Given the description of an element on the screen output the (x, y) to click on. 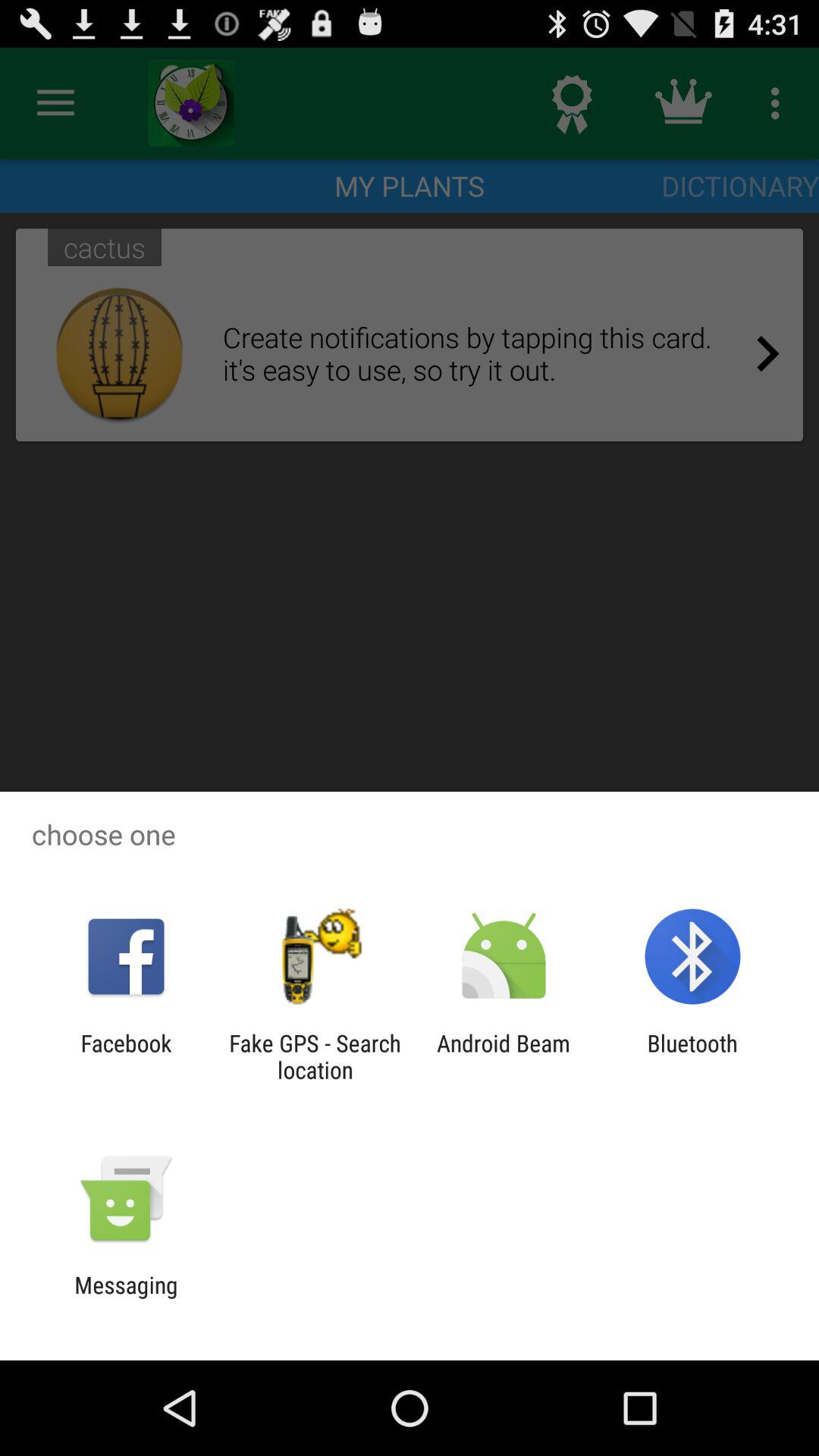
select the icon next to the bluetooth icon (503, 1056)
